Given the description of an element on the screen output the (x, y) to click on. 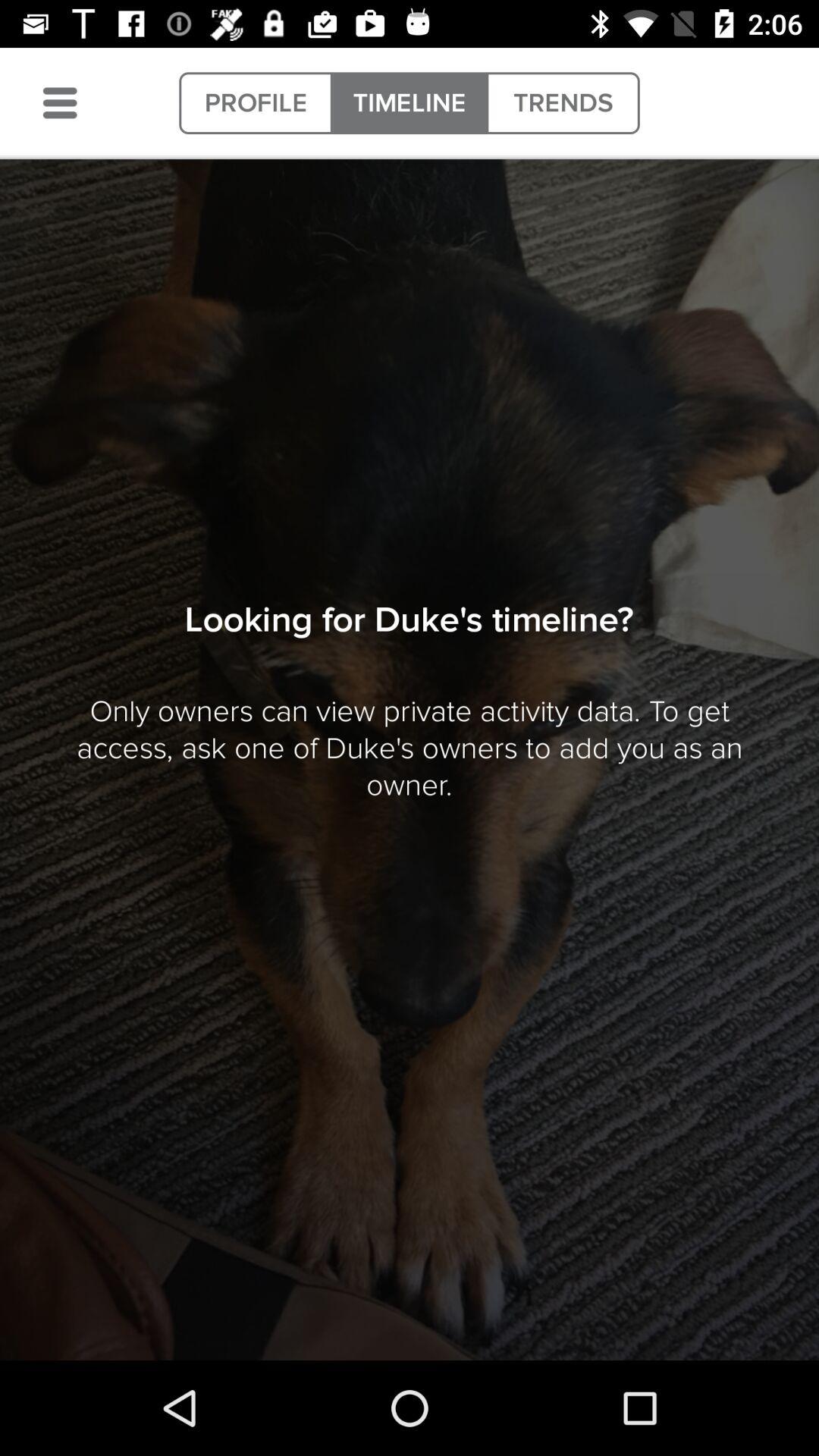
menu items (60, 103)
